Given the description of an element on the screen output the (x, y) to click on. 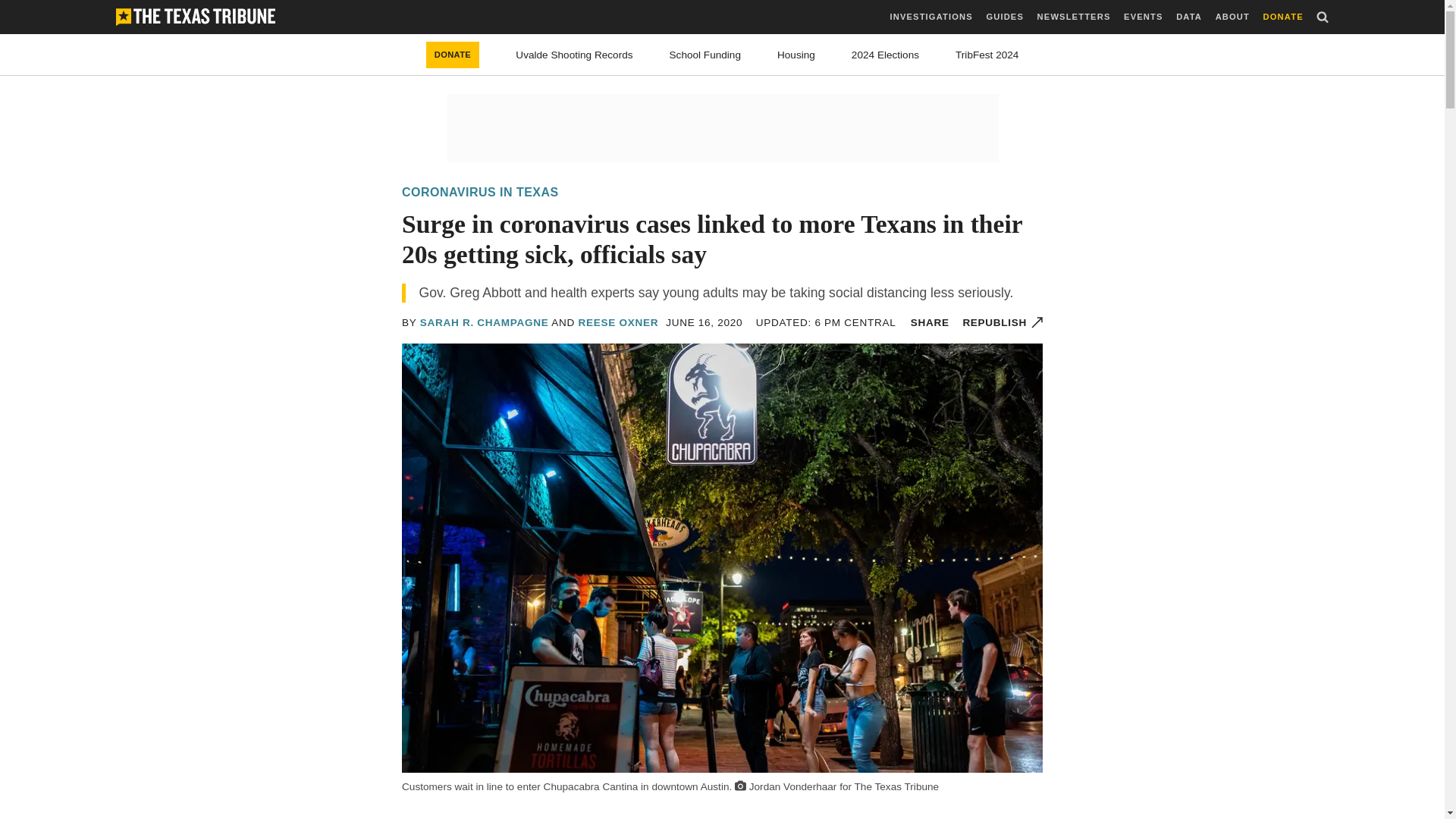
2020-06-16 14:26 CDT (703, 322)
REPUBLISH (1002, 322)
ABOUT (1232, 17)
SARAH R. CHAMPAGNE (484, 322)
DONATE (1283, 17)
REESE OXNER (618, 322)
CORONAVIRUS IN TEXAS (480, 192)
Uvalde Shooting Records (573, 54)
NEWSLETTERS (1073, 17)
INVESTIGATIONS (930, 17)
